Given the description of an element on the screen output the (x, y) to click on. 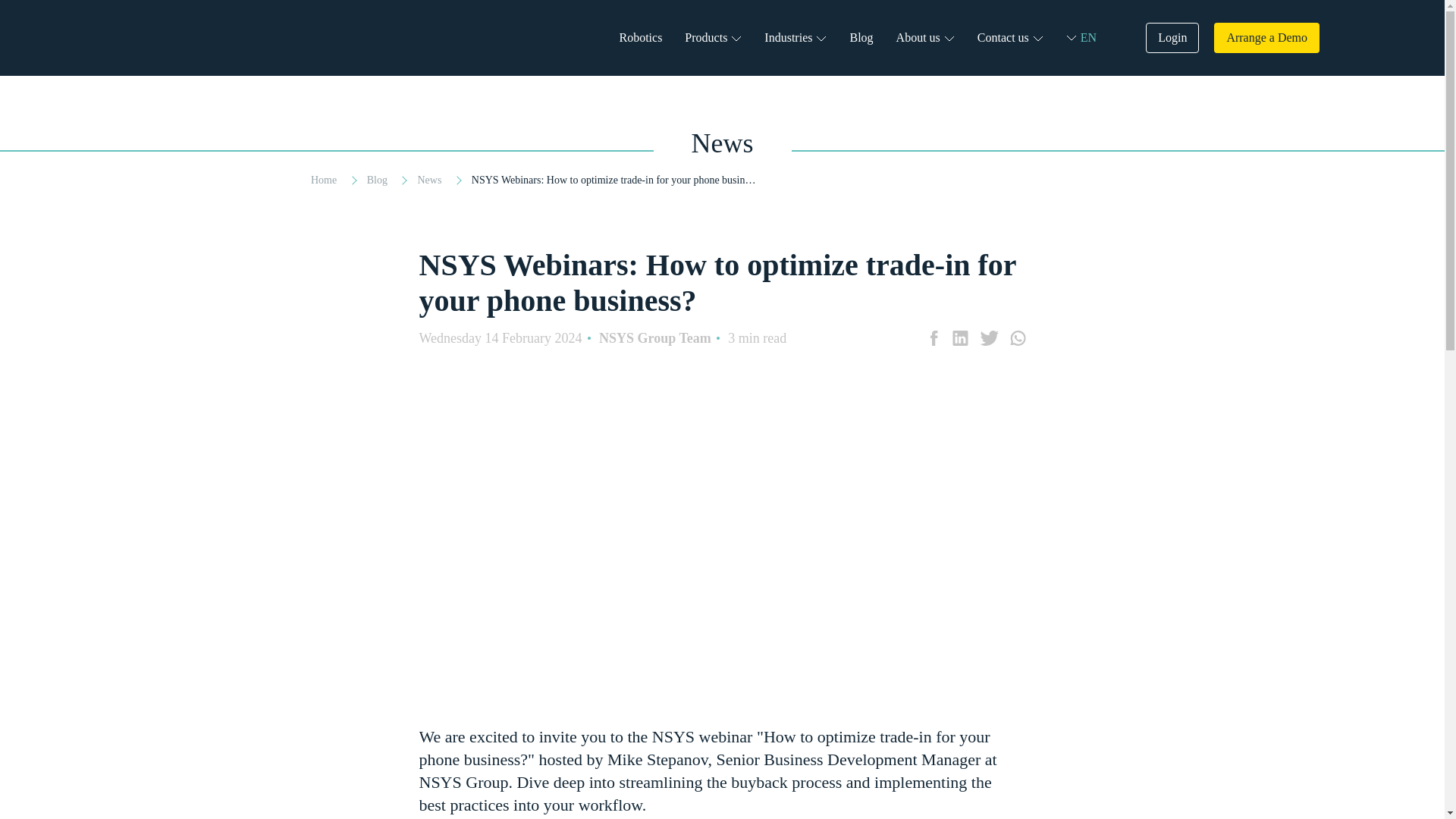
Robotics (640, 37)
Login (1171, 37)
Arrange a Demo (1266, 37)
Products (705, 37)
Contact us (1002, 37)
About us (918, 37)
Industries (788, 37)
